Given the description of an element on the screen output the (x, y) to click on. 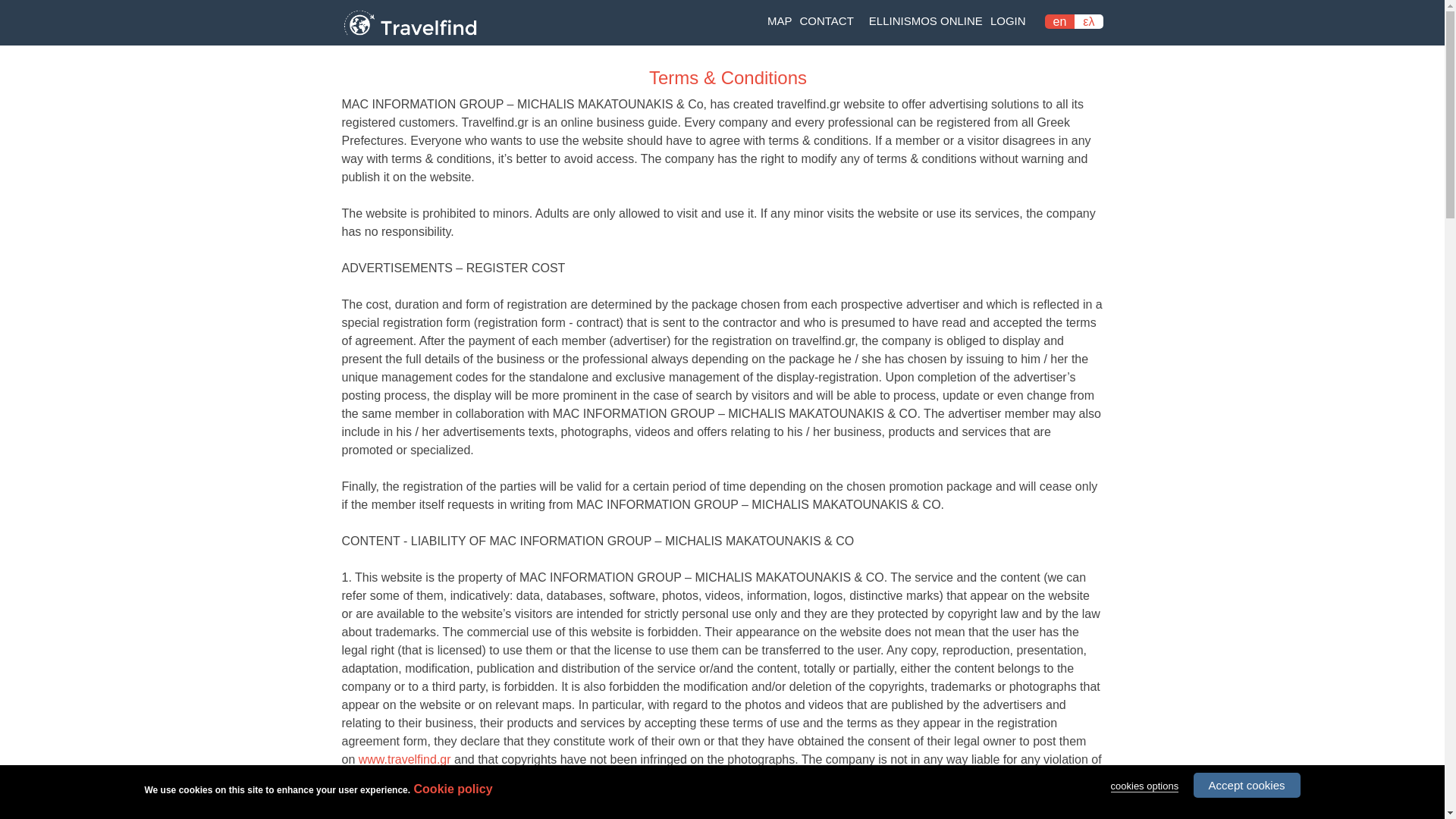
en (1059, 21)
CONTACT (826, 21)
LOGIN (1008, 20)
www.travelfind.gr (404, 758)
travelfind.gr (408, 35)
ELLINISMOS ONLINE (925, 21)
